Given the description of an element on the screen output the (x, y) to click on. 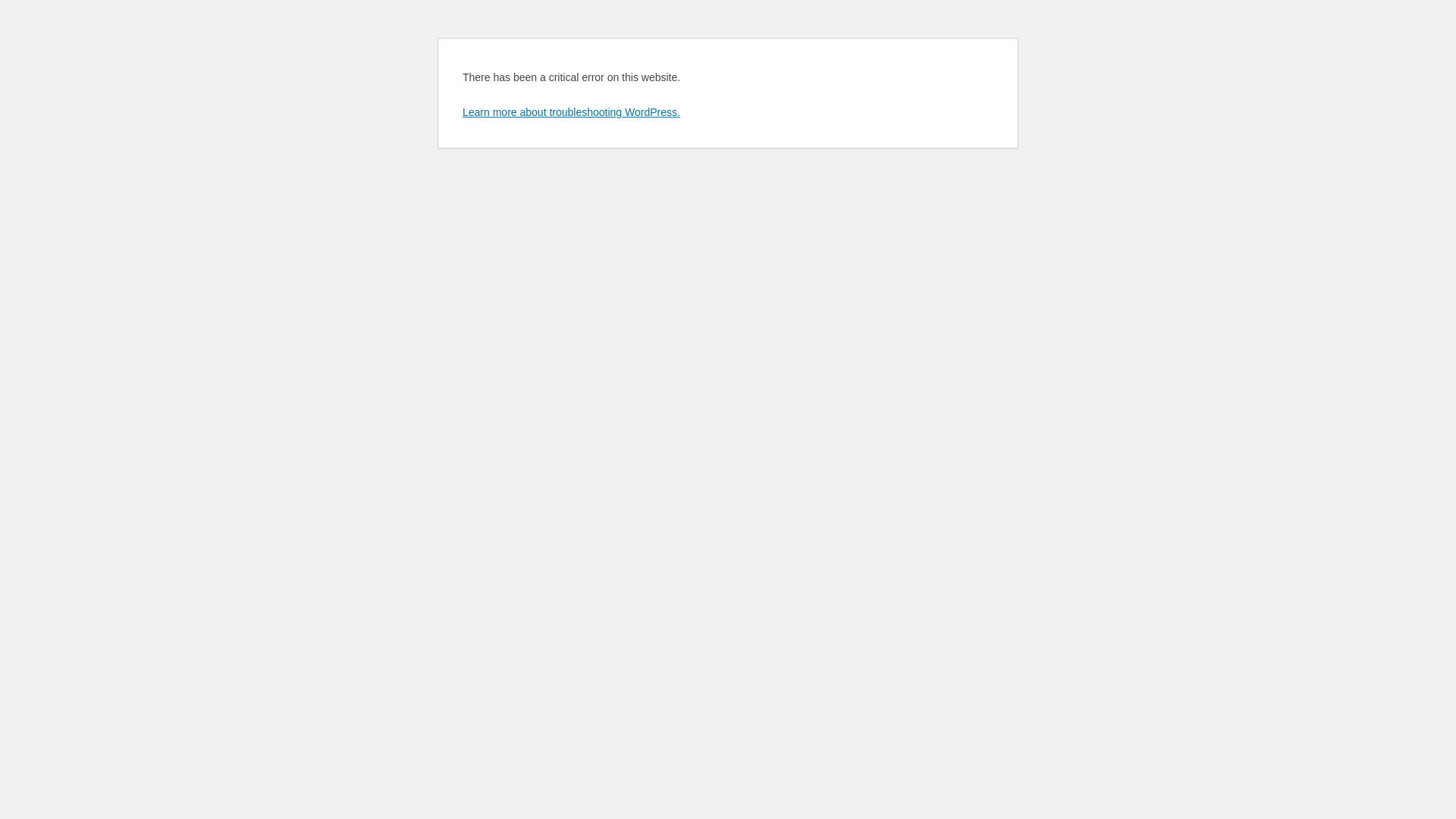
Learn more about troubleshooting WordPress. Element type: text (571, 112)
